Given the description of an element on the screen output the (x, y) to click on. 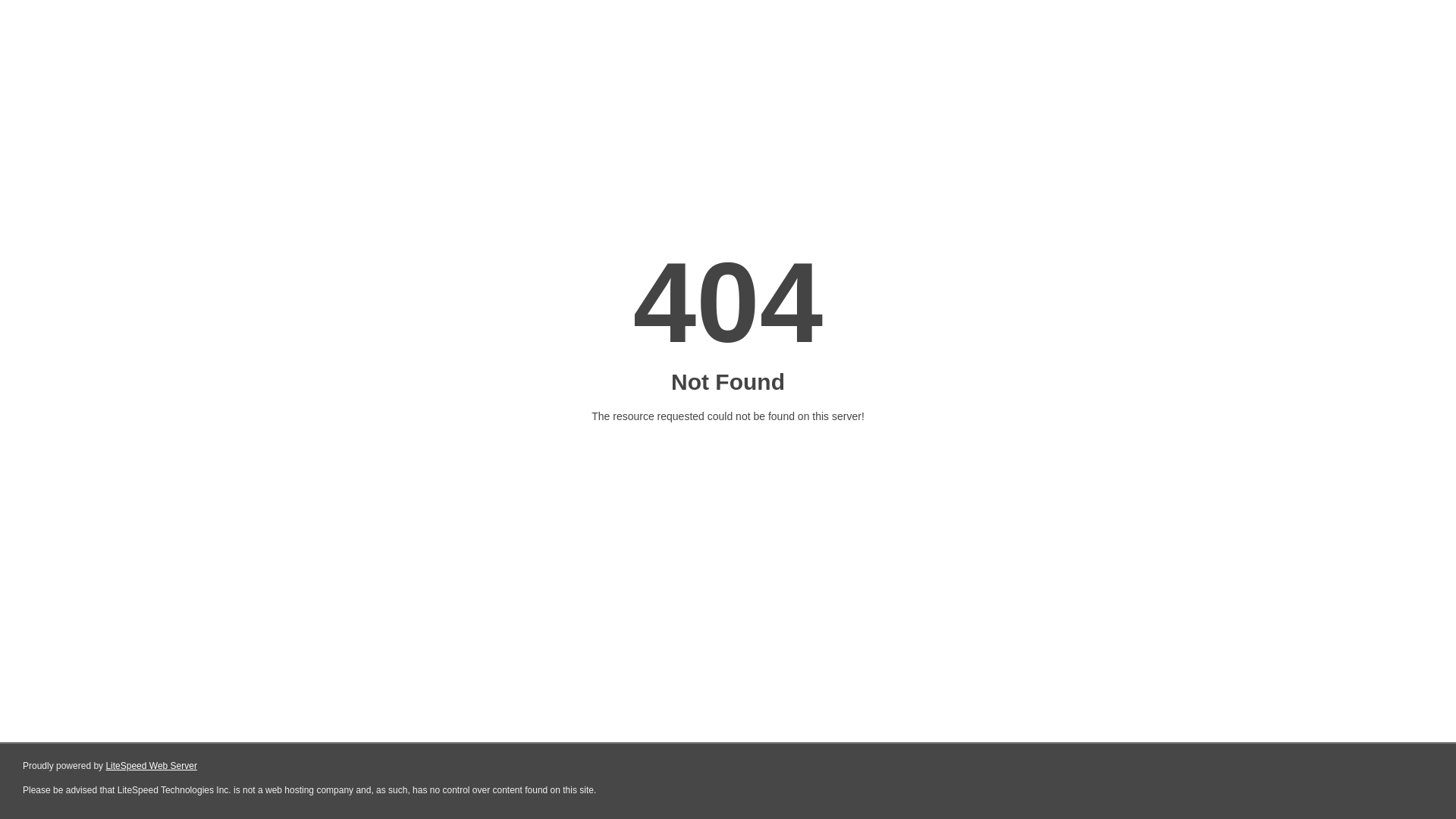
LiteSpeed Web Server Element type: text (151, 765)
